Given the description of an element on the screen output the (x, y) to click on. 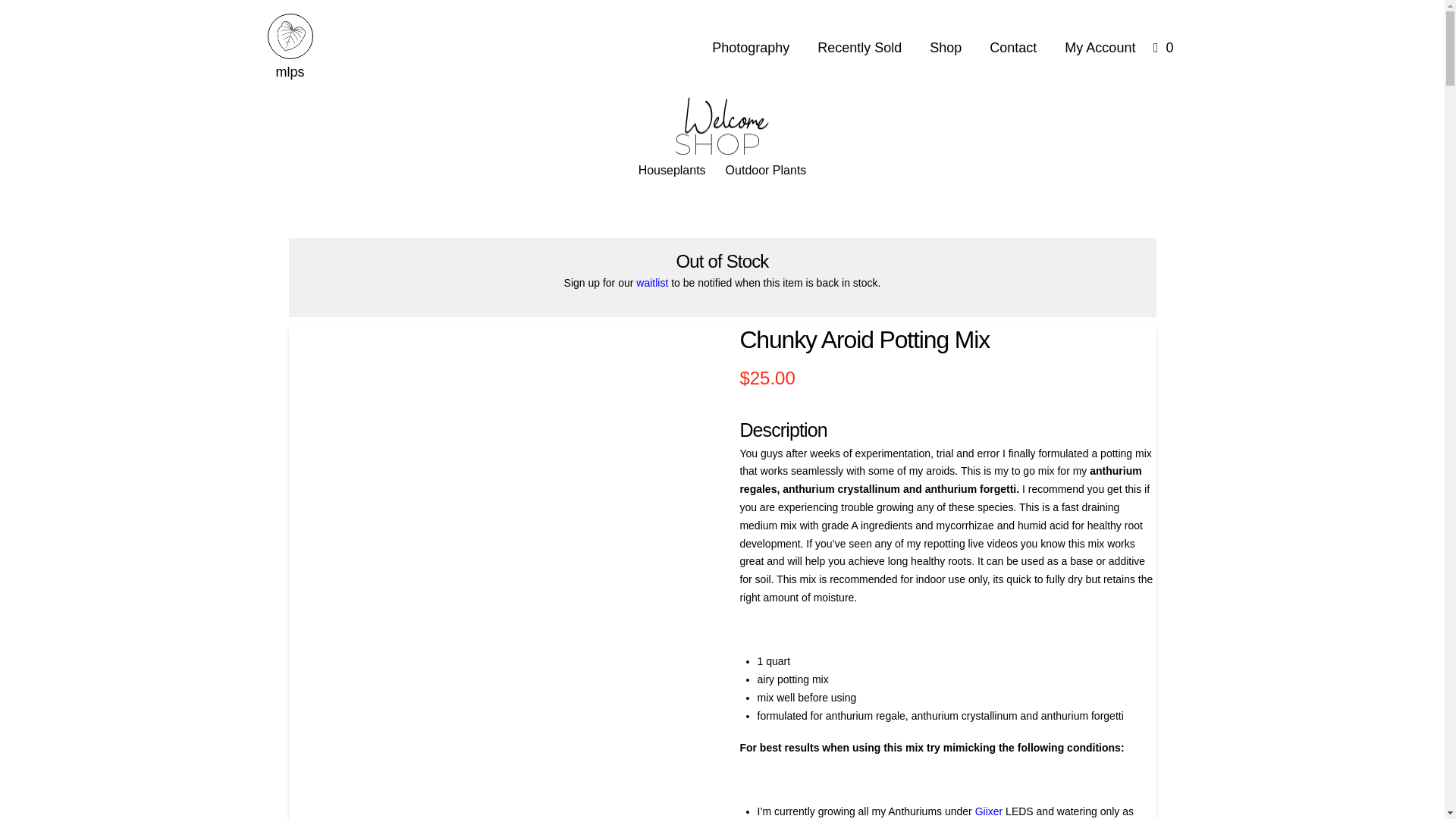
My Account (1100, 46)
Contact (1013, 46)
Shop (945, 46)
Photography (750, 46)
Houseplants (672, 170)
Outdoor Plants (766, 170)
Recently Sold (859, 46)
waitlist (652, 282)
Giixer (989, 811)
